Given the description of an element on the screen output the (x, y) to click on. 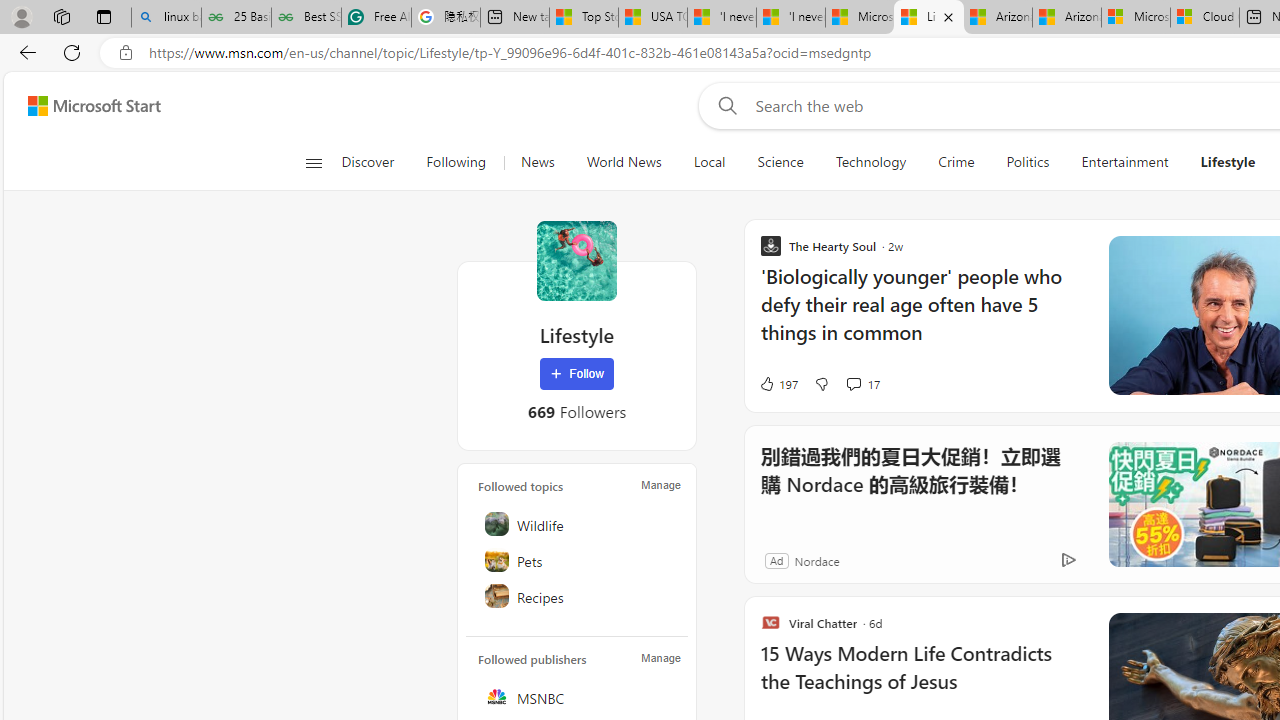
Lifestyle - MSN (928, 17)
MSNBC (578, 696)
Wildlife (578, 524)
Best SSL Certificates Provider in India - GeeksforGeeks (305, 17)
197 Like (778, 384)
Cloud Computing Services | Microsoft Azure (1205, 17)
